Given the description of an element on the screen output the (x, y) to click on. 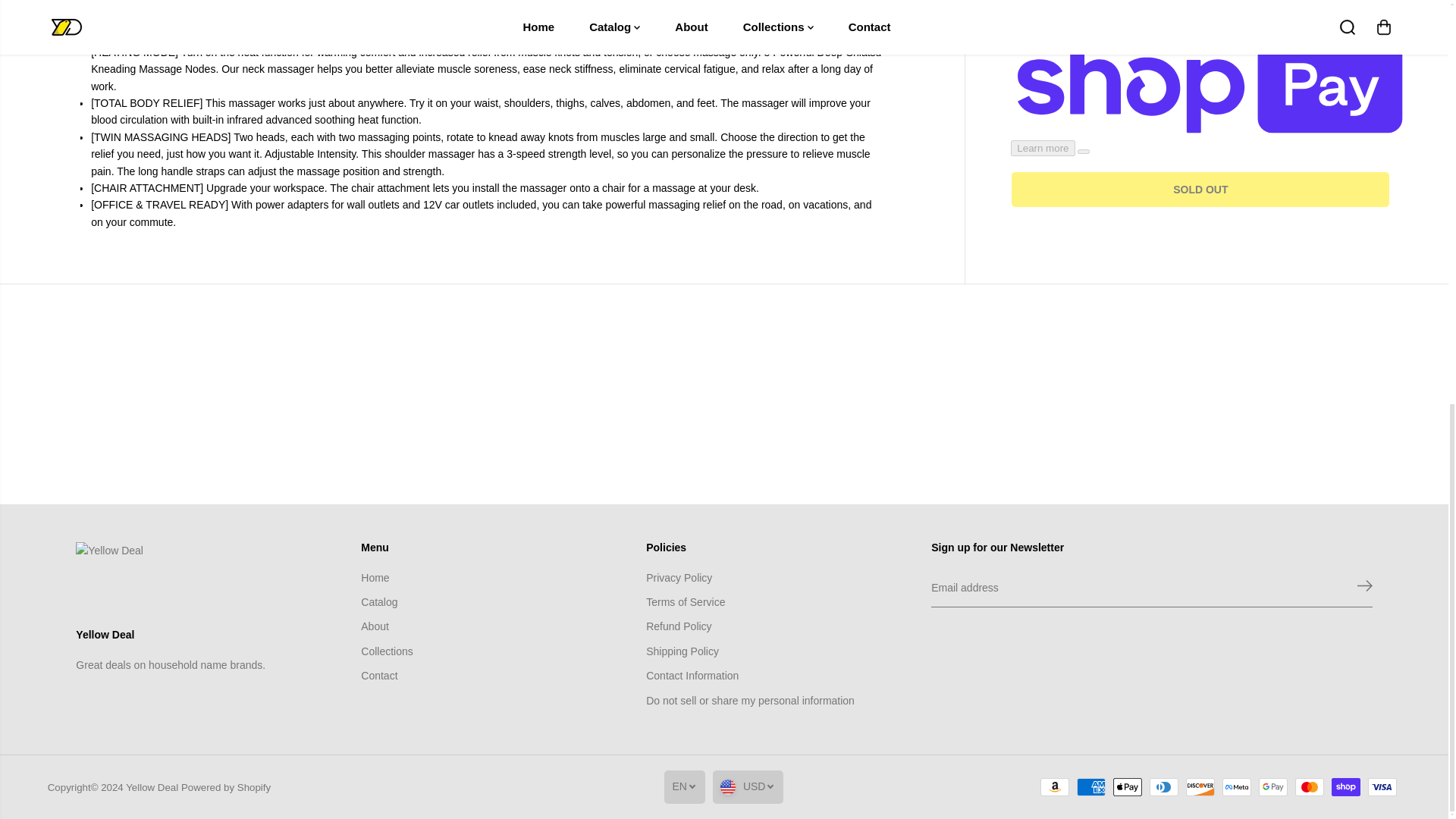
Visa (1382, 787)
Apple Pay (1127, 787)
Google Pay (1273, 787)
Diners Club (1163, 787)
Amazon (1054, 787)
Shop Pay (1345, 787)
Discover (1200, 787)
American Express (1091, 787)
Mastercard (1309, 787)
Meta Pay (1236, 787)
